Given the description of an element on the screen output the (x, y) to click on. 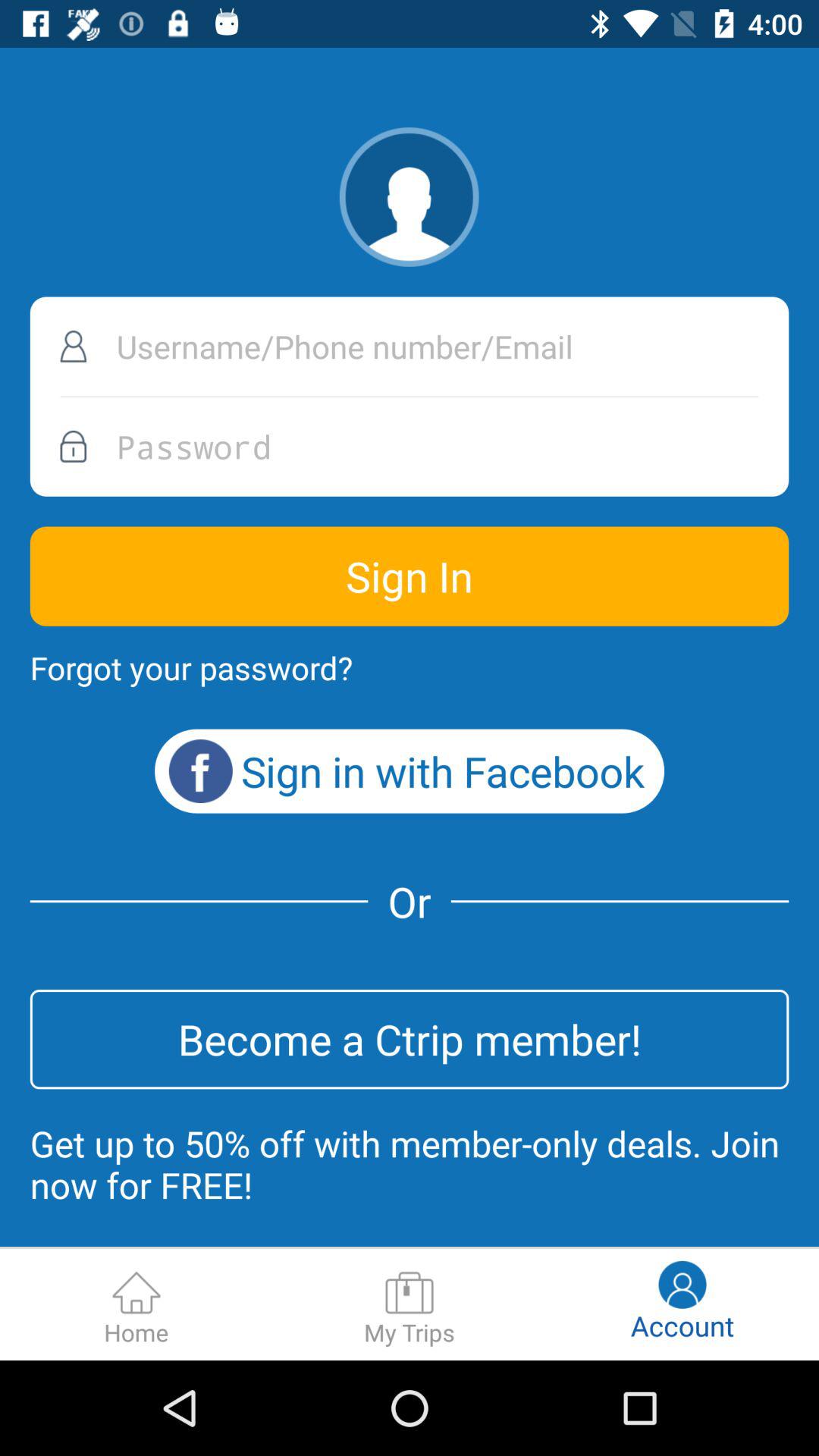
launch icon above the sign in icon (409, 446)
